Given the description of an element on the screen output the (x, y) to click on. 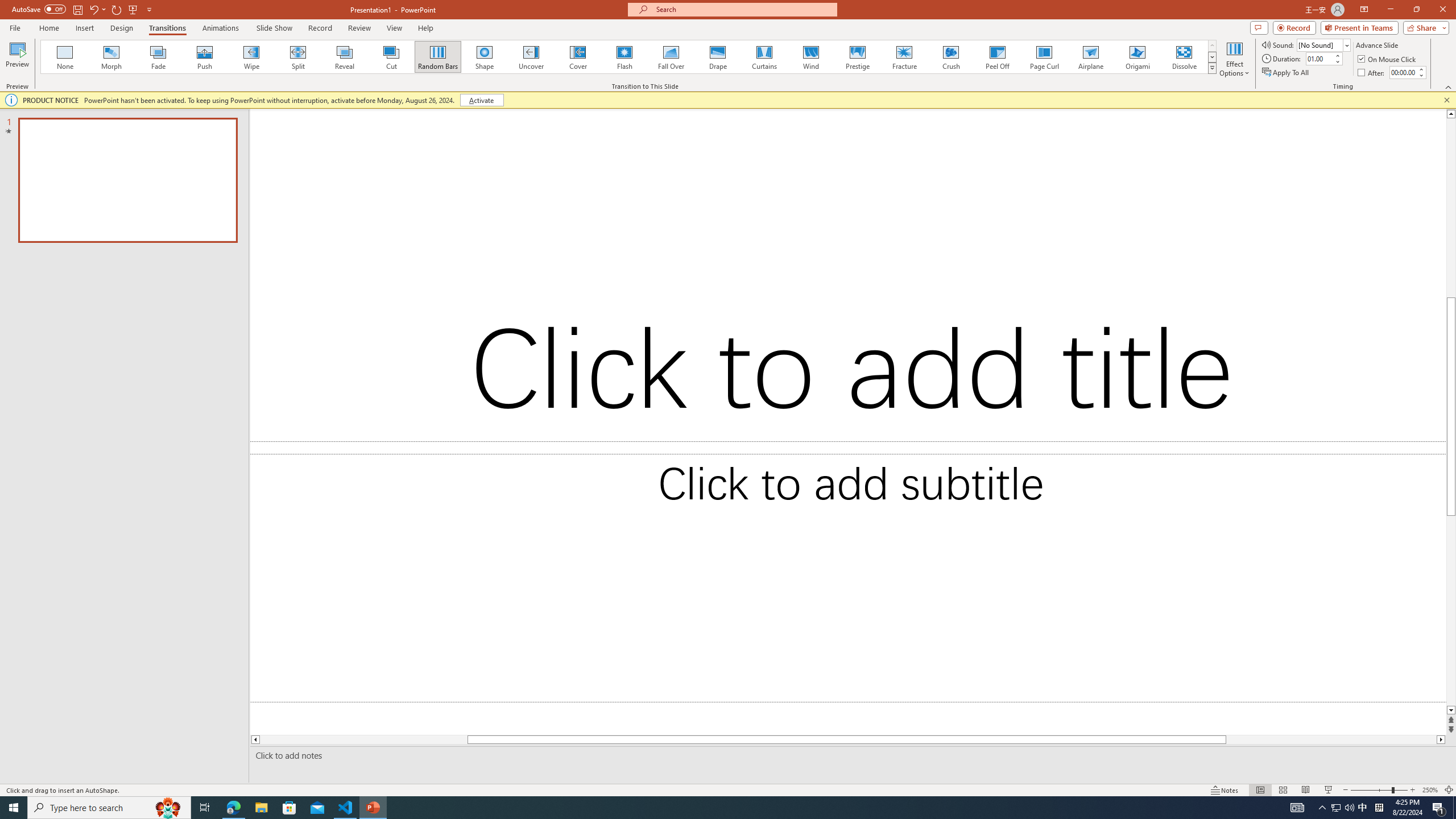
Flash (624, 56)
Prestige (857, 56)
Fracture (903, 56)
Activate (481, 100)
